Given the description of an element on the screen output the (x, y) to click on. 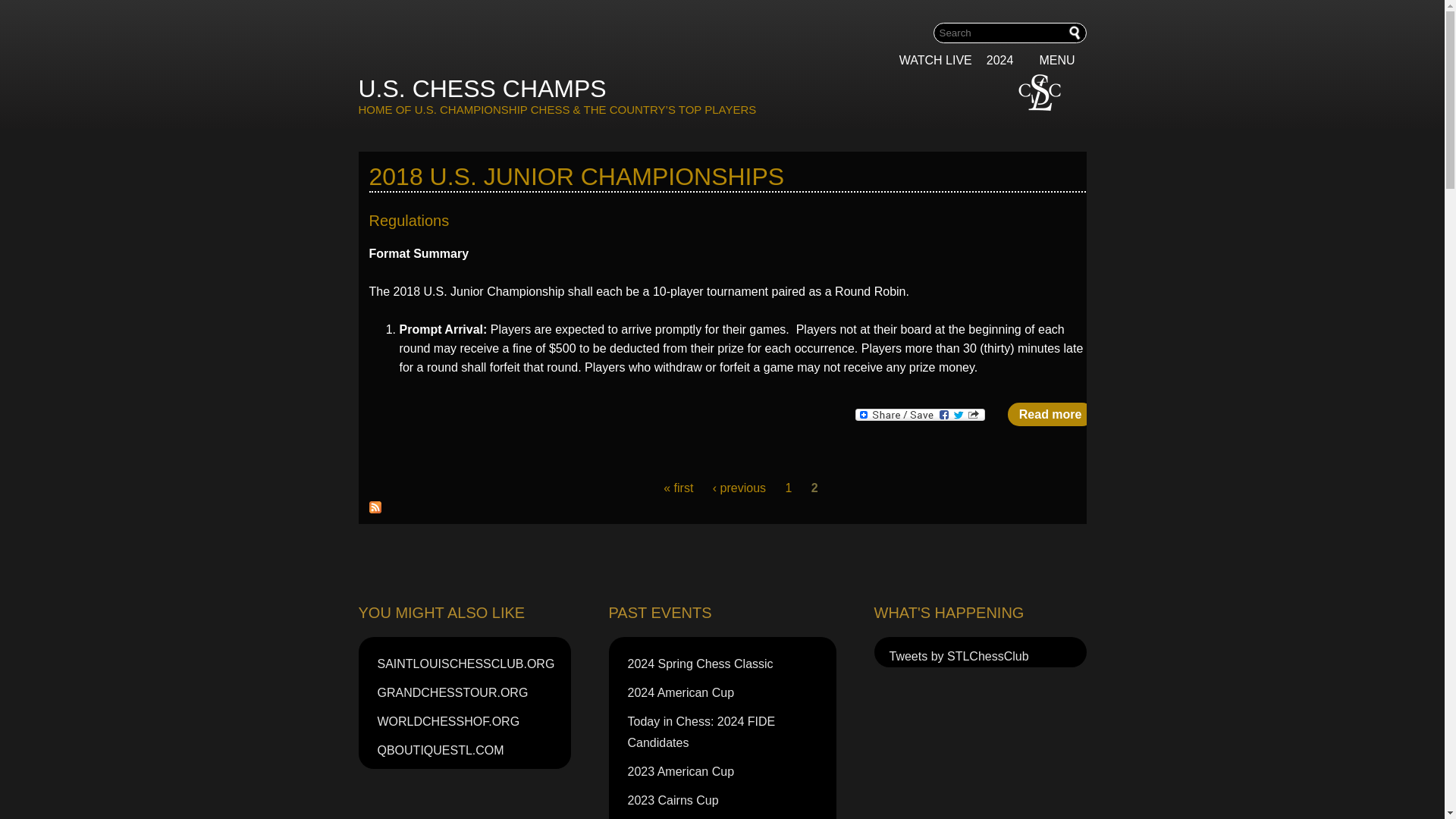
Regulations (1050, 413)
2024 Spring Chess Classic (729, 664)
SAINTLOUISCHESSCLUB.ORG (471, 664)
MENU (1062, 60)
2023 Cairns Cup (729, 800)
2024 (1006, 60)
2023 American Cup (729, 771)
2023 Champions Showdown: Chess 9LX (729, 816)
WATCH LIVE (935, 60)
